Given the description of an element on the screen output the (x, y) to click on. 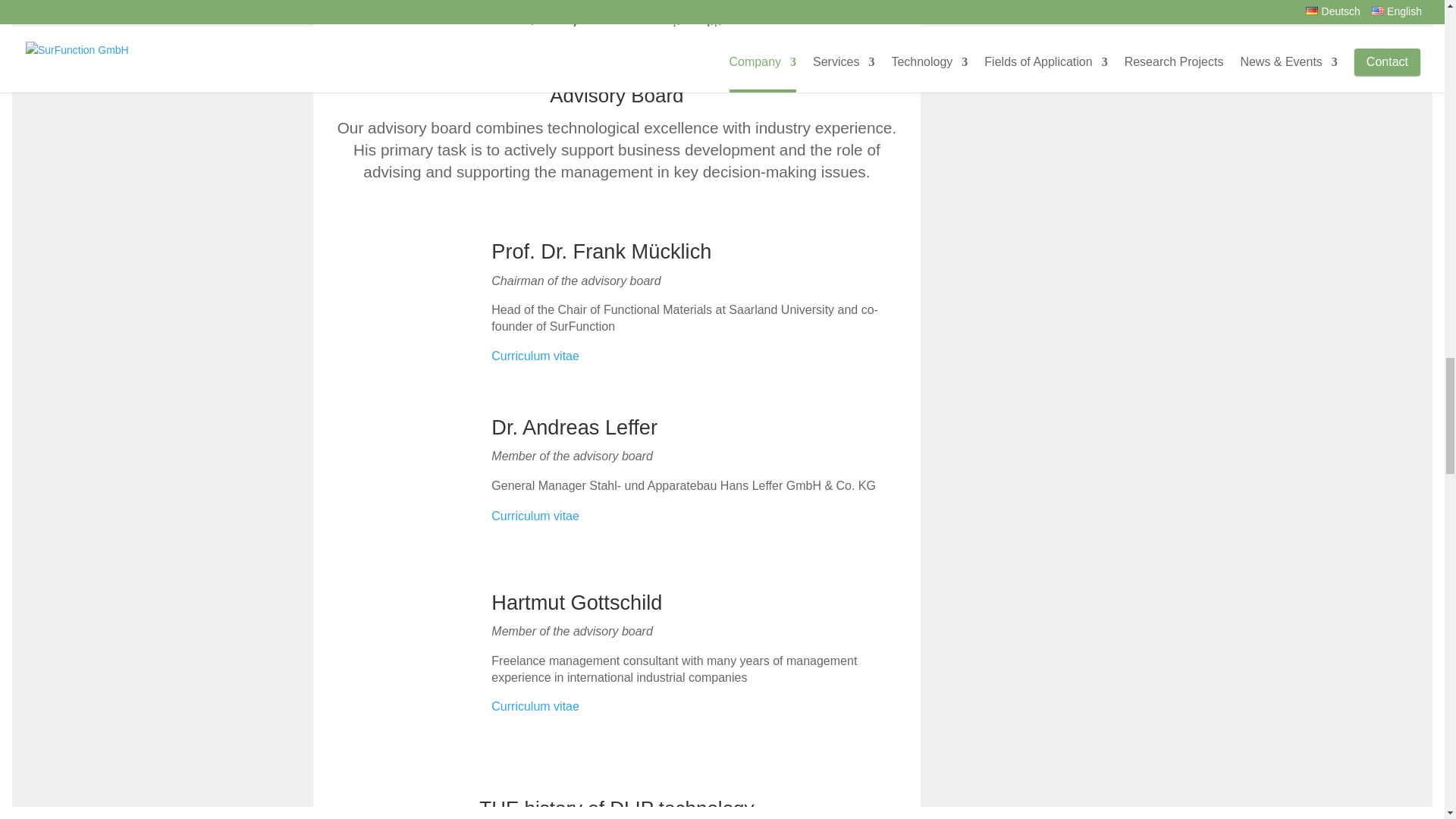
Curriculum vitae (535, 515)
Curriculum vitae (535, 706)
Curriculum vitae (535, 355)
